Given the description of an element on the screen output the (x, y) to click on. 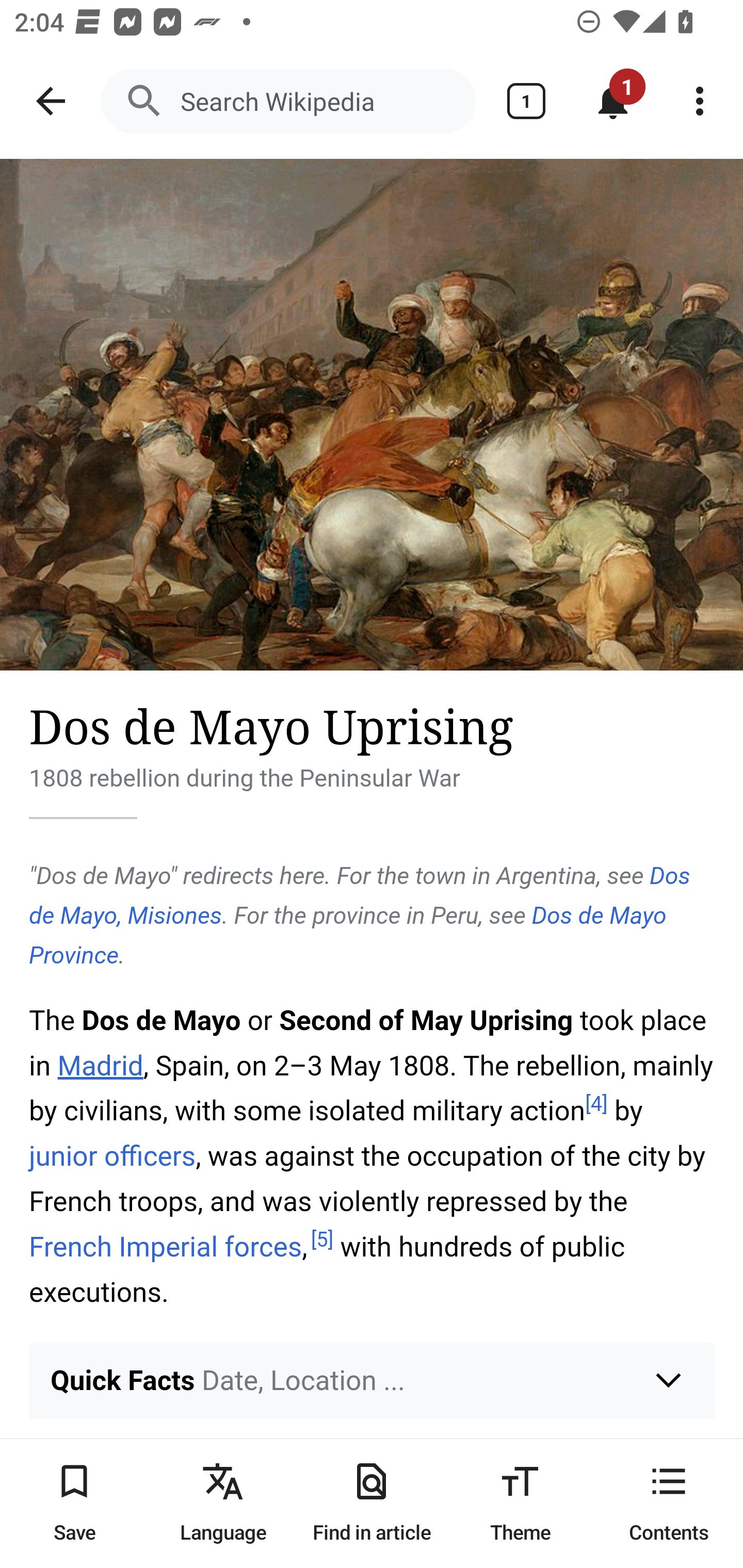
Show tabs 1 (525, 100)
Notifications 1 (612, 100)
Navigate up (50, 101)
More options (699, 101)
Search Wikipedia (288, 100)
Image: Dos de Mayo Uprising (371, 414)
Dos de Mayo, Misiones (359, 895)
Dos de Mayo Province (347, 935)
Madrid (99, 1065)
[] [ 4 ] (596, 1102)
junior officers (112, 1155)
[] [ 5 ] (321, 1239)
French Imperial forces (165, 1246)
Quick Facts  Date, Location ... Expand table (372, 1380)
Save (74, 1502)
Language (222, 1502)
Find in article (371, 1502)
Theme (519, 1502)
Contents (668, 1502)
